Given the description of an element on the screen output the (x, y) to click on. 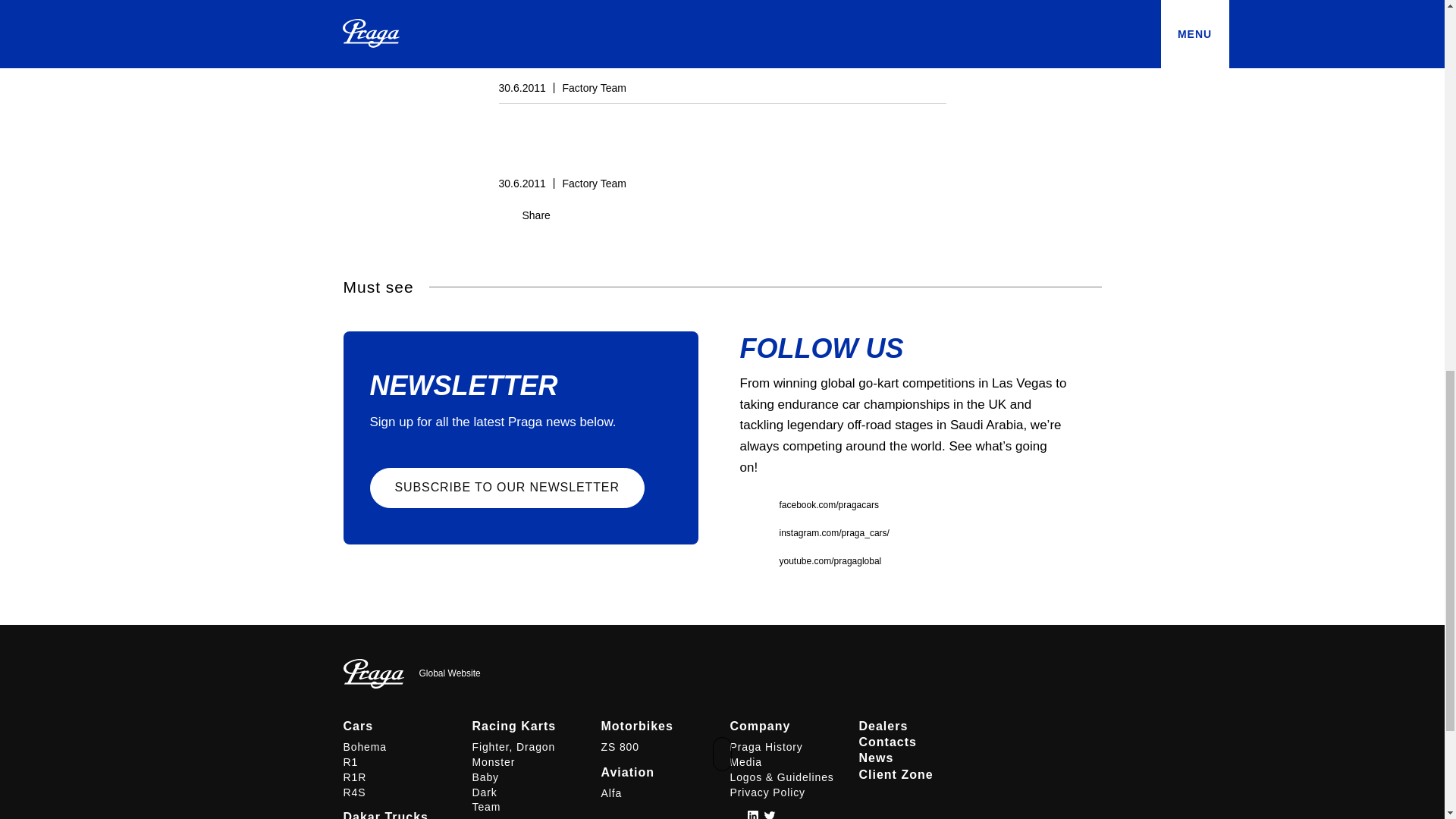
Logo Linkedin (751, 814)
Logo Twitter (768, 814)
